Given the description of an element on the screen output the (x, y) to click on. 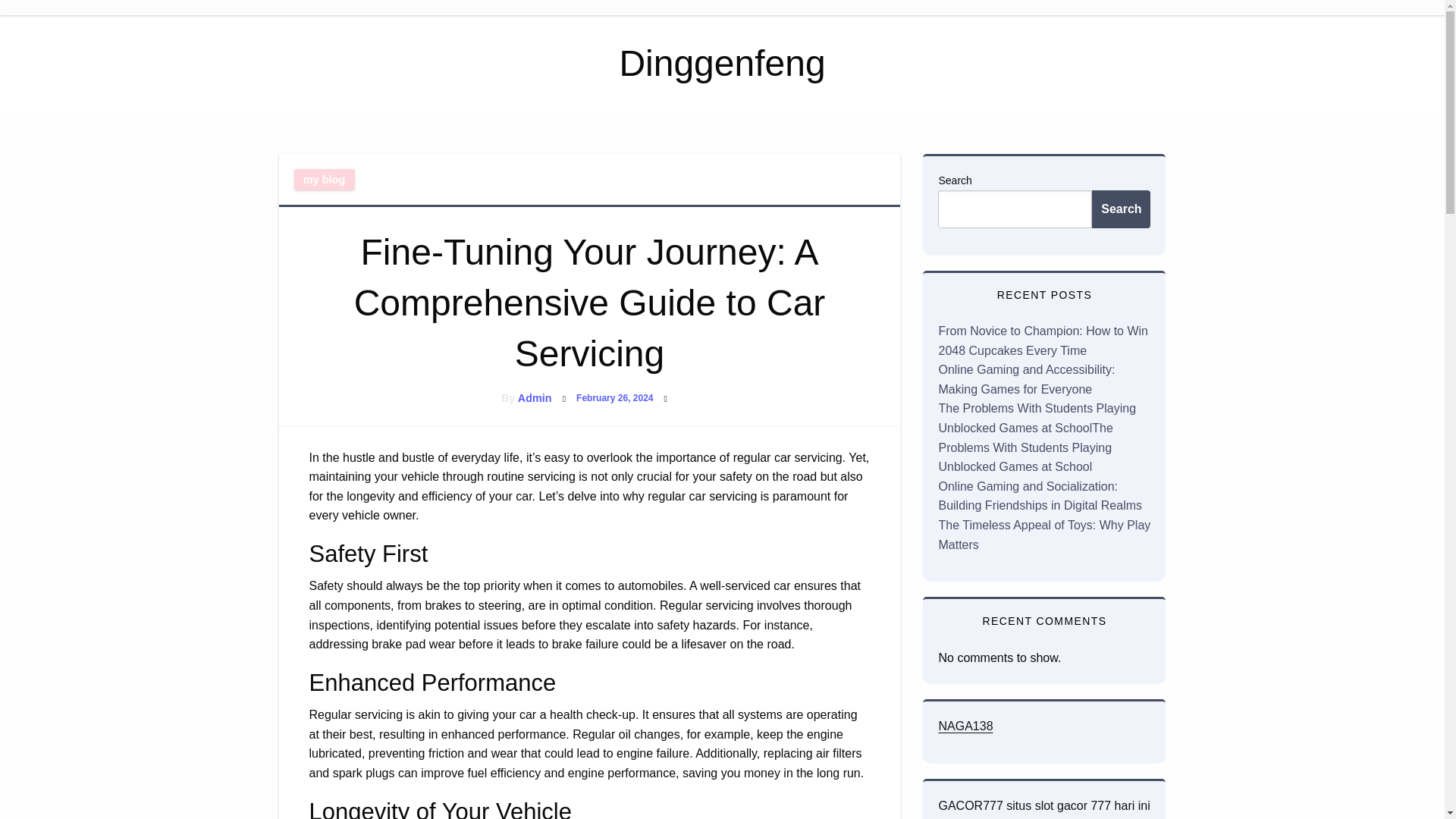
my blog (324, 179)
The Timeless Appeal of Toys: Why Play Matters (1043, 534)
February 26, 2024 (614, 398)
Search (1121, 209)
Dinggenfeng (721, 63)
Admin (534, 398)
Admin (534, 398)
From Novice to Champion: How to Win 2048 Cupcakes Every Time (1042, 340)
NAGA138 (964, 725)
Online Gaming and Accessibility: Making Games for Everyone (1026, 379)
